Given the description of an element on the screen output the (x, y) to click on. 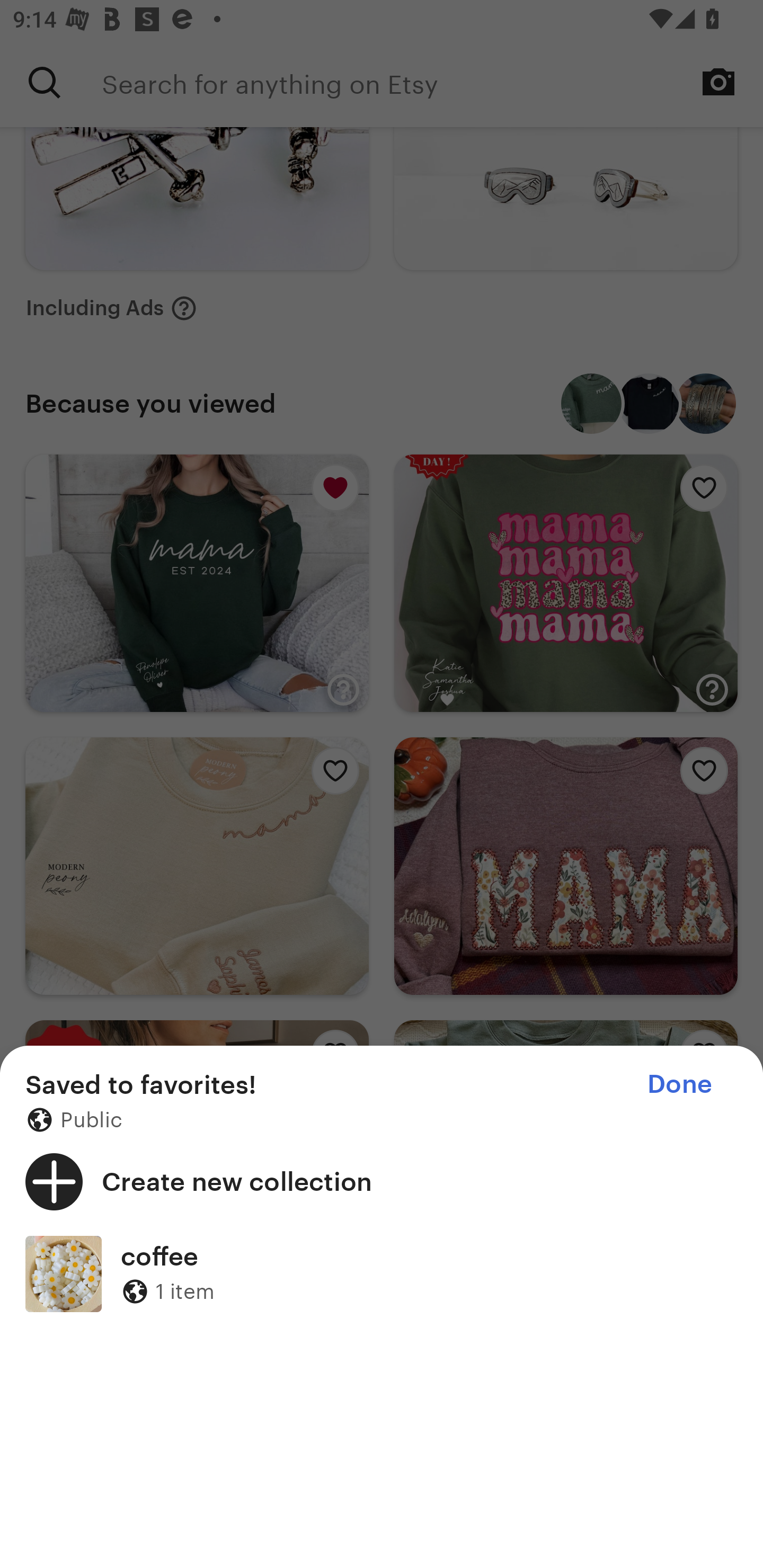
Done (679, 1083)
Create new collection (381, 1181)
coffee 1 item (381, 1273)
